Given the description of an element on the screen output the (x, y) to click on. 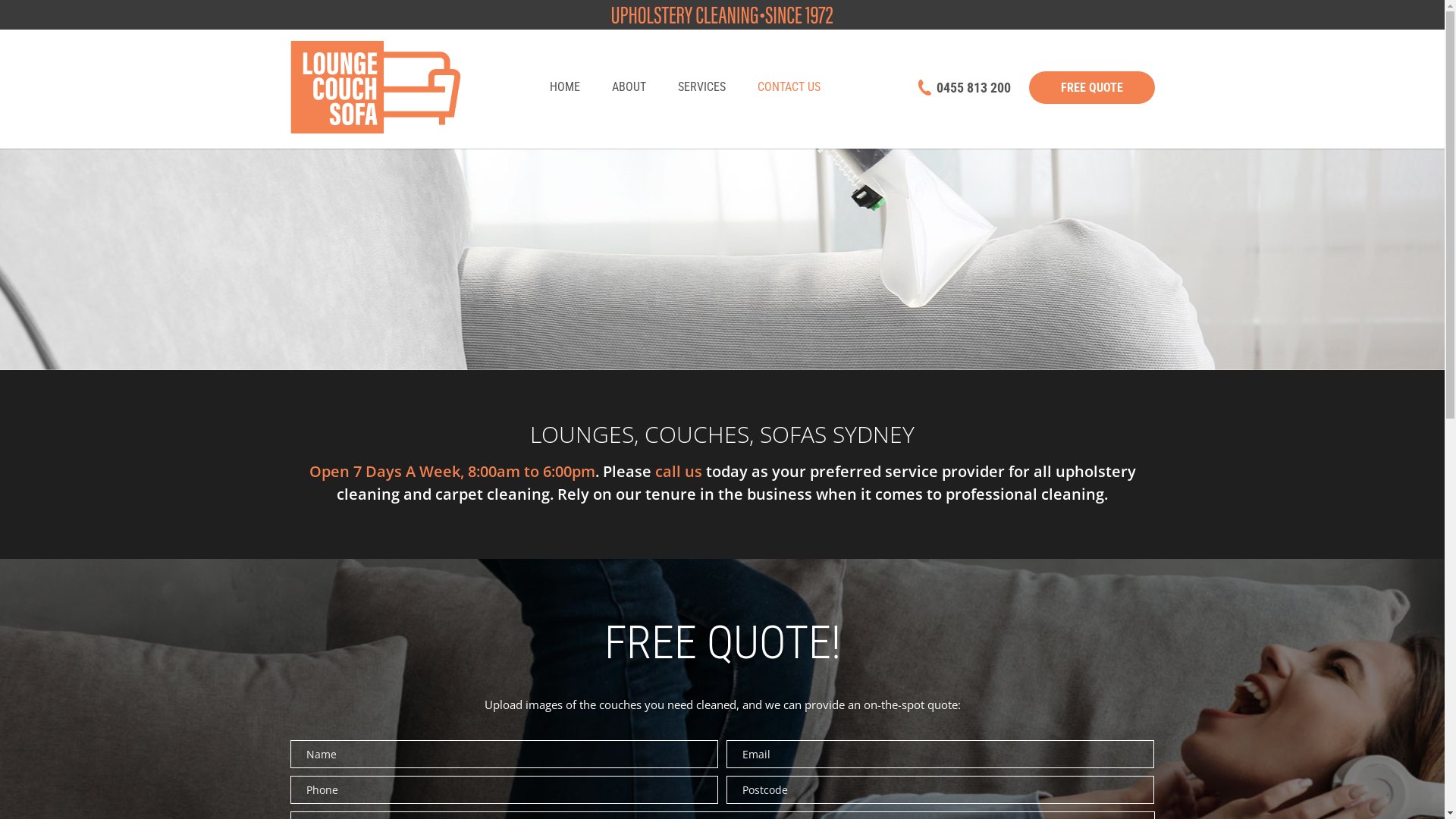
call us Element type: text (678, 471)
0455 813 200 Element type: text (963, 87)
FREE QUOTE Element type: text (1091, 87)
CONTACT US Element type: text (784, 87)
SERVICES Element type: text (701, 87)
HOME Element type: text (568, 87)
ABOUT Element type: text (628, 87)
